Given the description of an element on the screen output the (x, y) to click on. 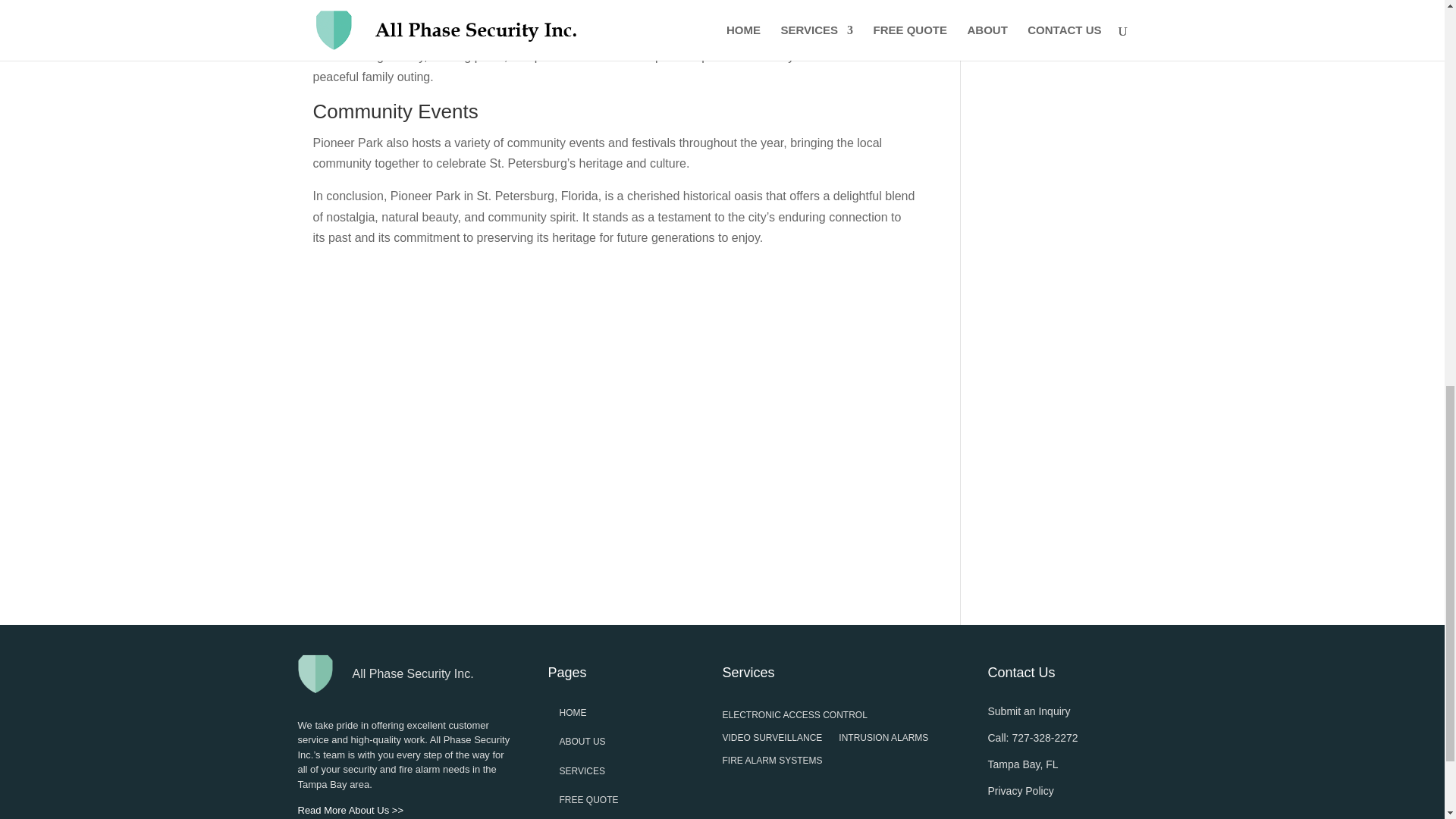
HOME (572, 712)
ELECTRONIC ACCESS CONTROL (794, 718)
FIRE ALARM SYSTEMS (772, 763)
VIDEO SURVEILLANCE (772, 740)
INTRUSION ALARMS (883, 740)
Privacy Policy (1019, 790)
Call: 727-328-2272 (1032, 737)
Tampa Bay, FL (1022, 764)
Submit an Inquiry (1028, 711)
ABOUT US (582, 741)
SERVICES (582, 770)
FREE QUOTE (588, 799)
